Given the description of an element on the screen output the (x, y) to click on. 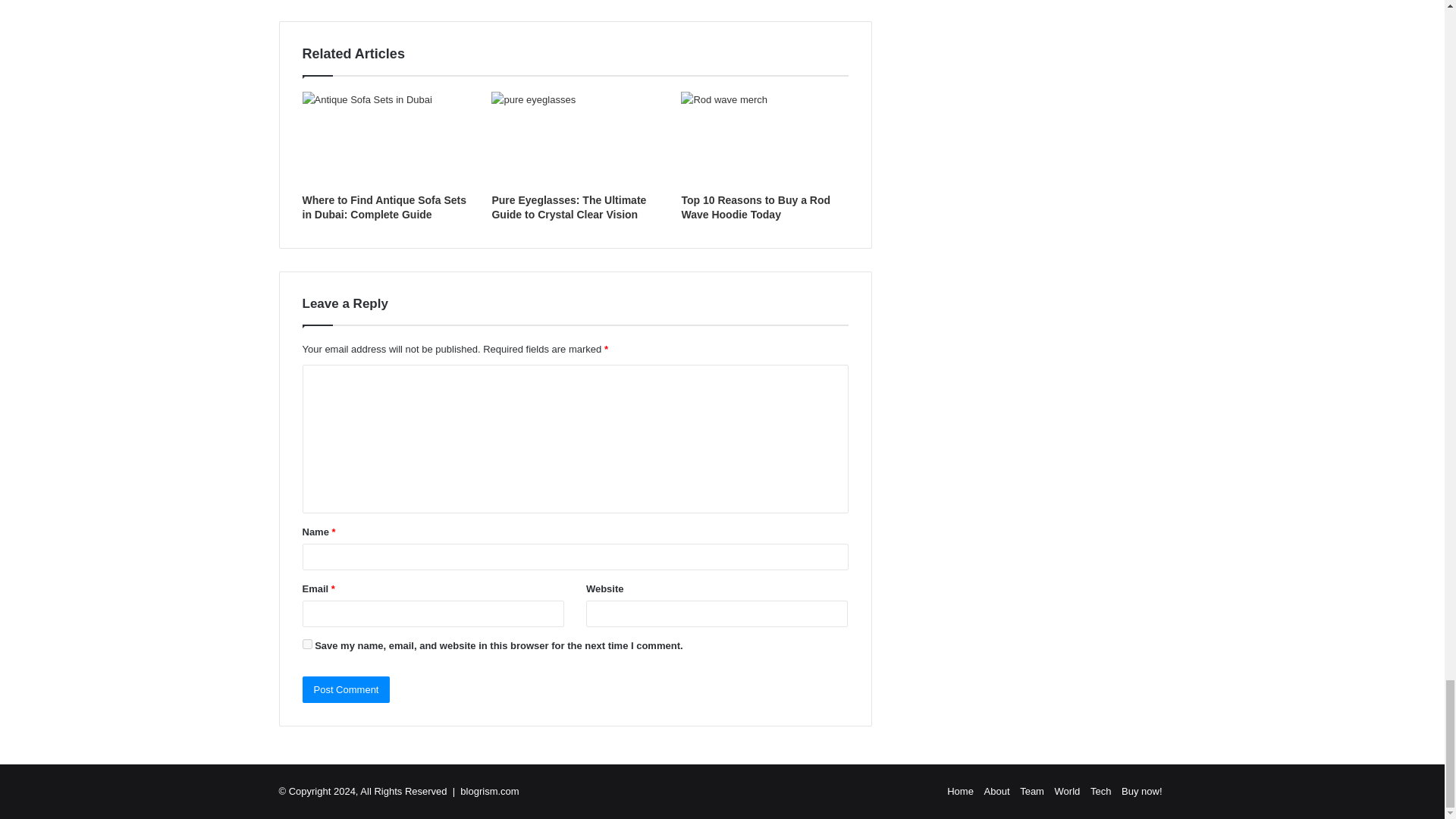
yes (306, 644)
Post Comment (345, 689)
